Given the description of an element on the screen output the (x, y) to click on. 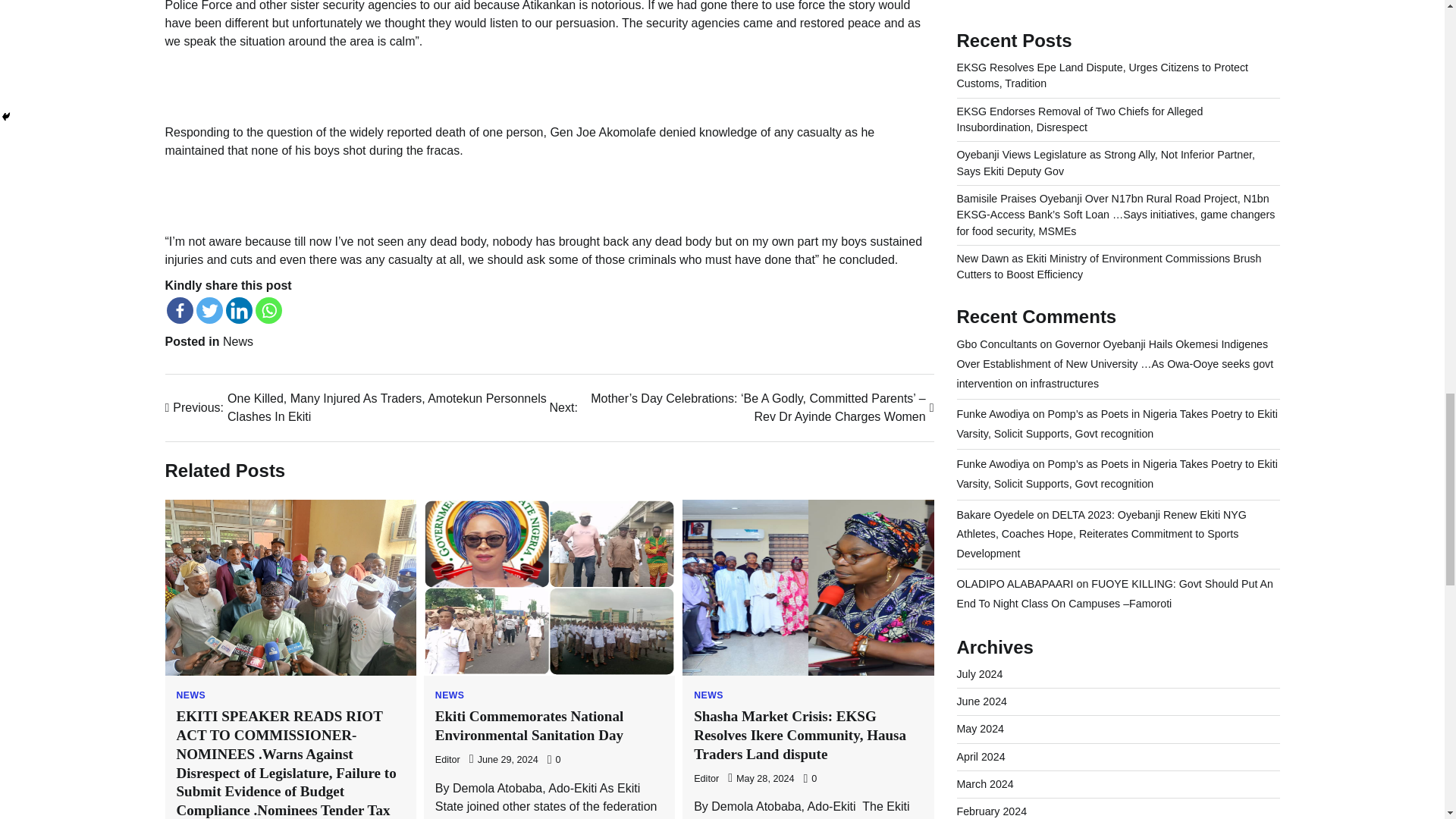
Linkedin (238, 310)
Facebook (180, 310)
Twitter (208, 310)
NEWS (190, 695)
News (237, 341)
Whatsapp (267, 310)
